Given the description of an element on the screen output the (x, y) to click on. 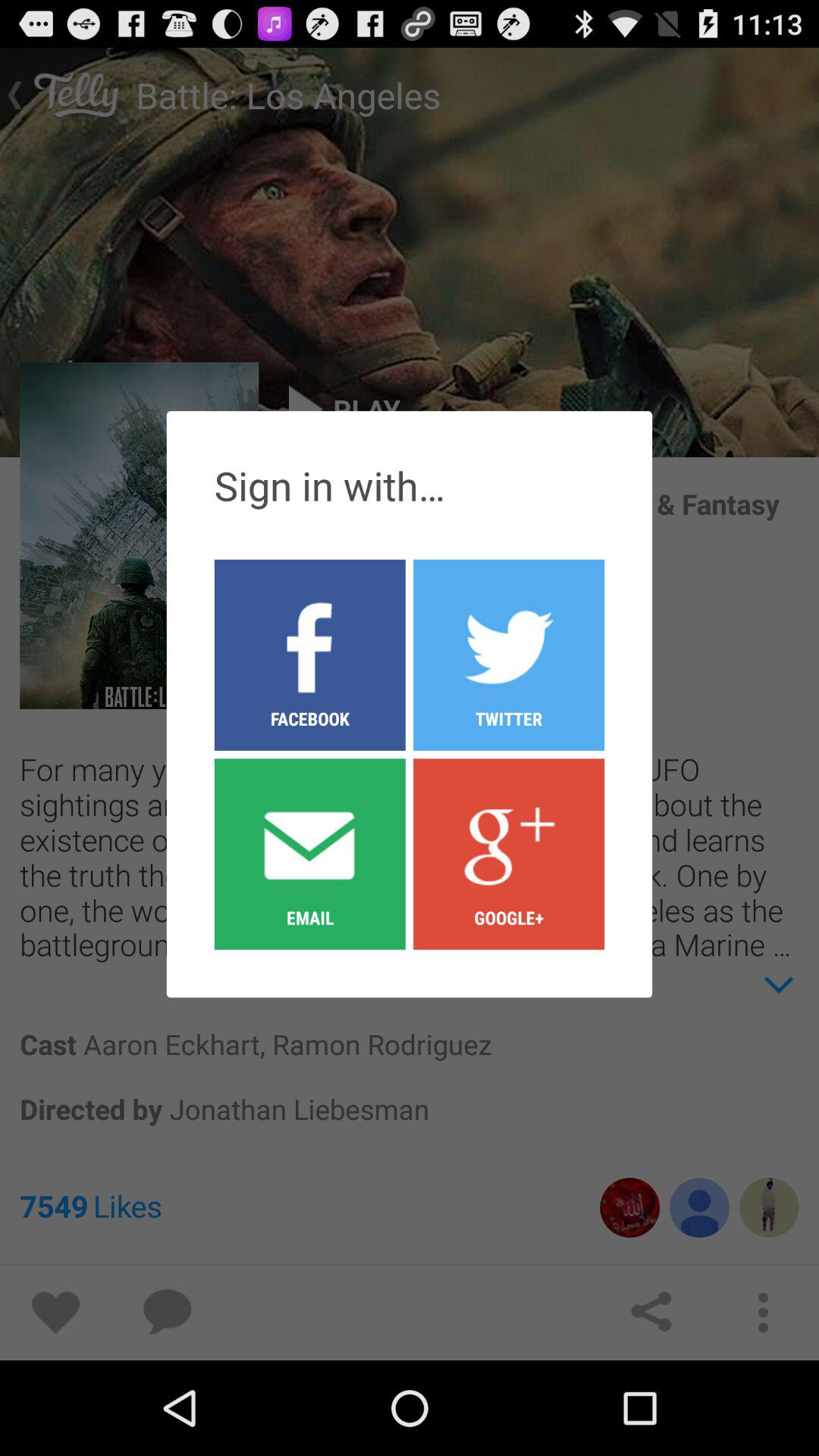
swipe until email button (309, 853)
